Given the description of an element on the screen output the (x, y) to click on. 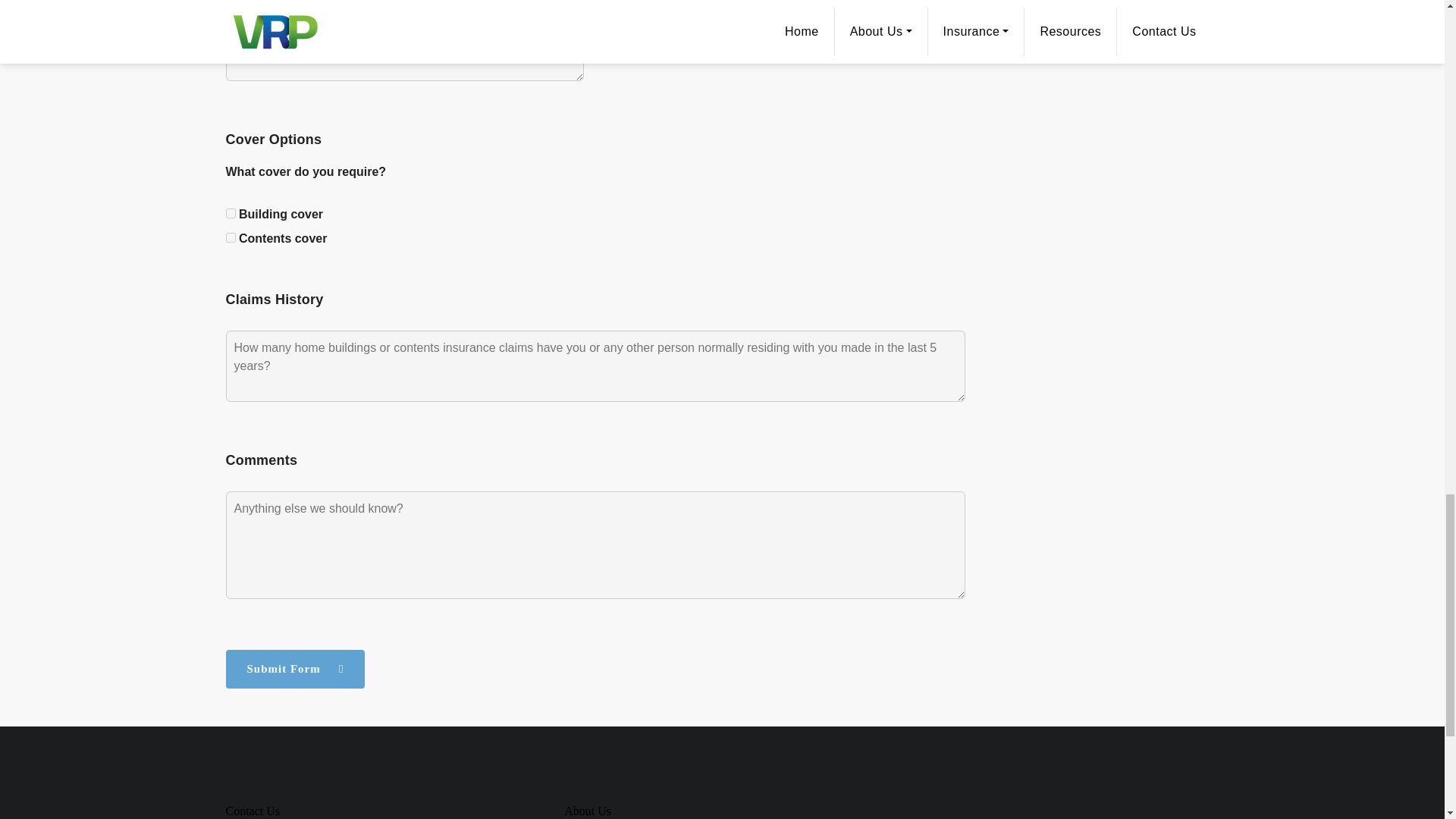
on (230, 237)
Submit Form   (295, 669)
on (230, 213)
